Given the description of an element on the screen output the (x, y) to click on. 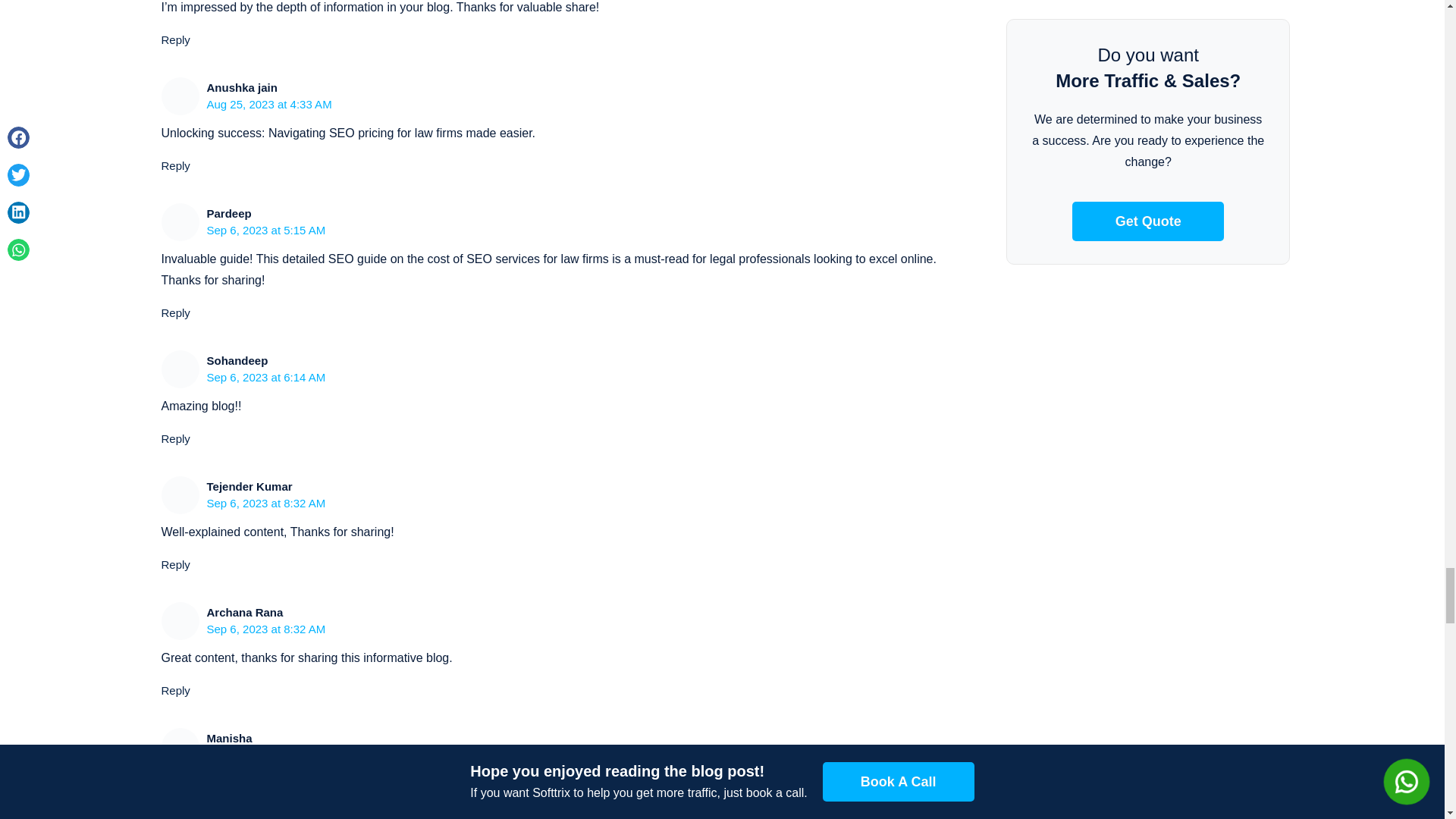
Reply (174, 39)
Reply (174, 689)
Reply (174, 312)
Reply (174, 438)
Reply (174, 563)
Reply (174, 164)
Reply (174, 814)
